Given the description of an element on the screen output the (x, y) to click on. 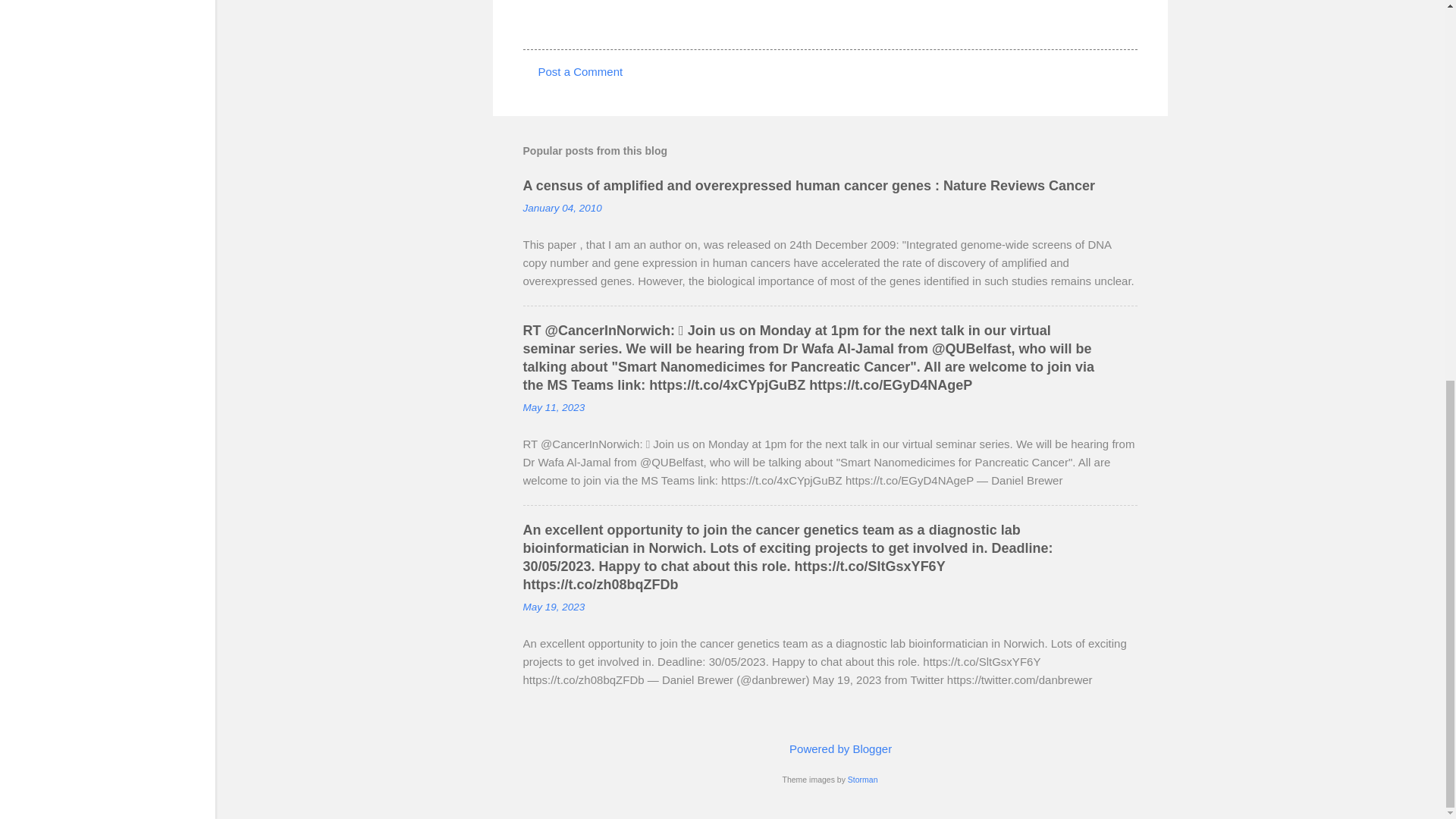
January 04, 2010 (562, 207)
Email Post (562, 21)
May 11, 2023 (553, 407)
May 19, 2023 (553, 606)
Storman (862, 778)
Post a Comment (580, 71)
permanent link (562, 207)
Powered by Blogger (829, 748)
